Given the description of an element on the screen output the (x, y) to click on. 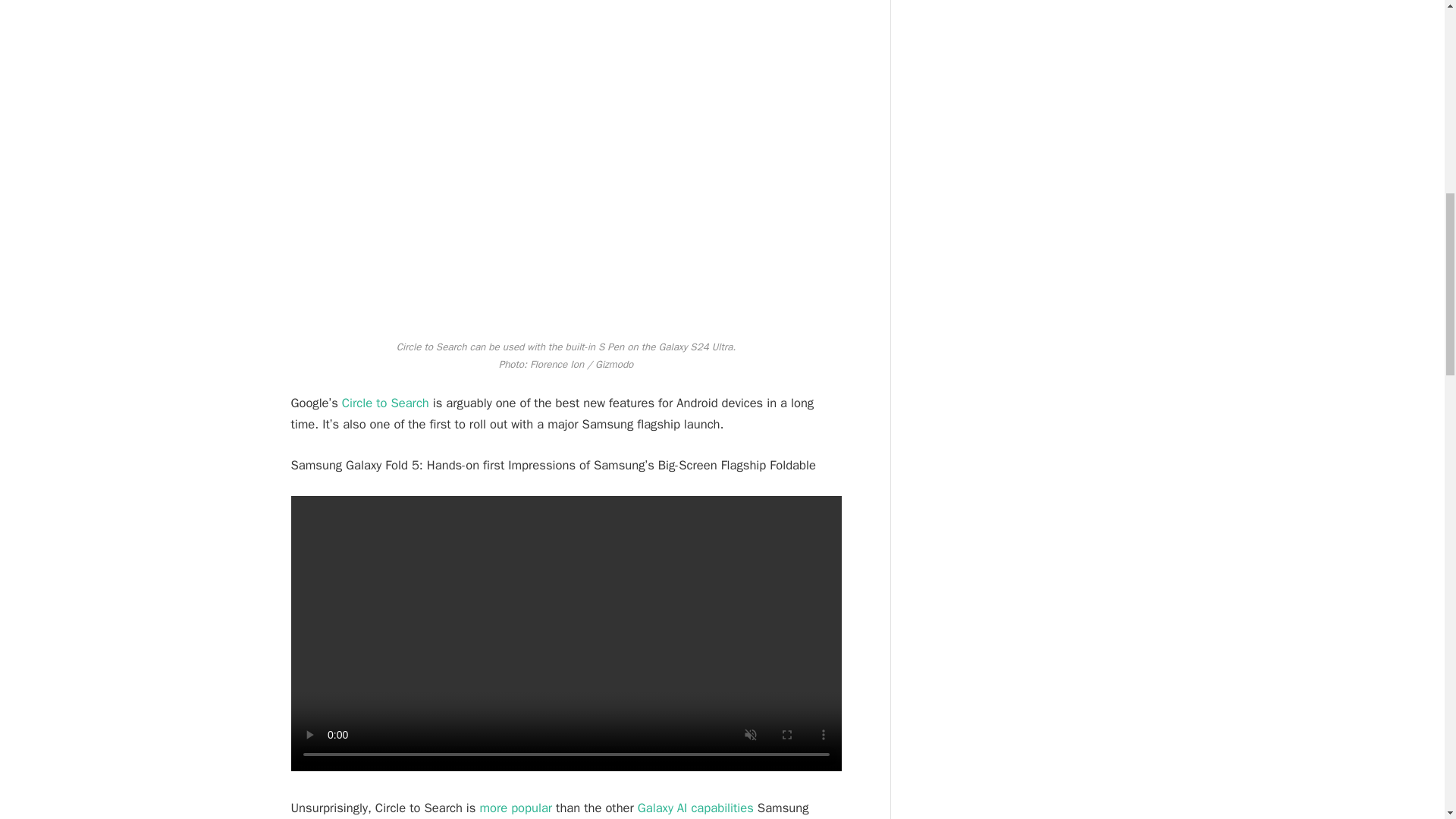
Circle to Search (385, 402)
more popular (515, 807)
Galaxy AI capabilities (695, 807)
